Given the description of an element on the screen output the (x, y) to click on. 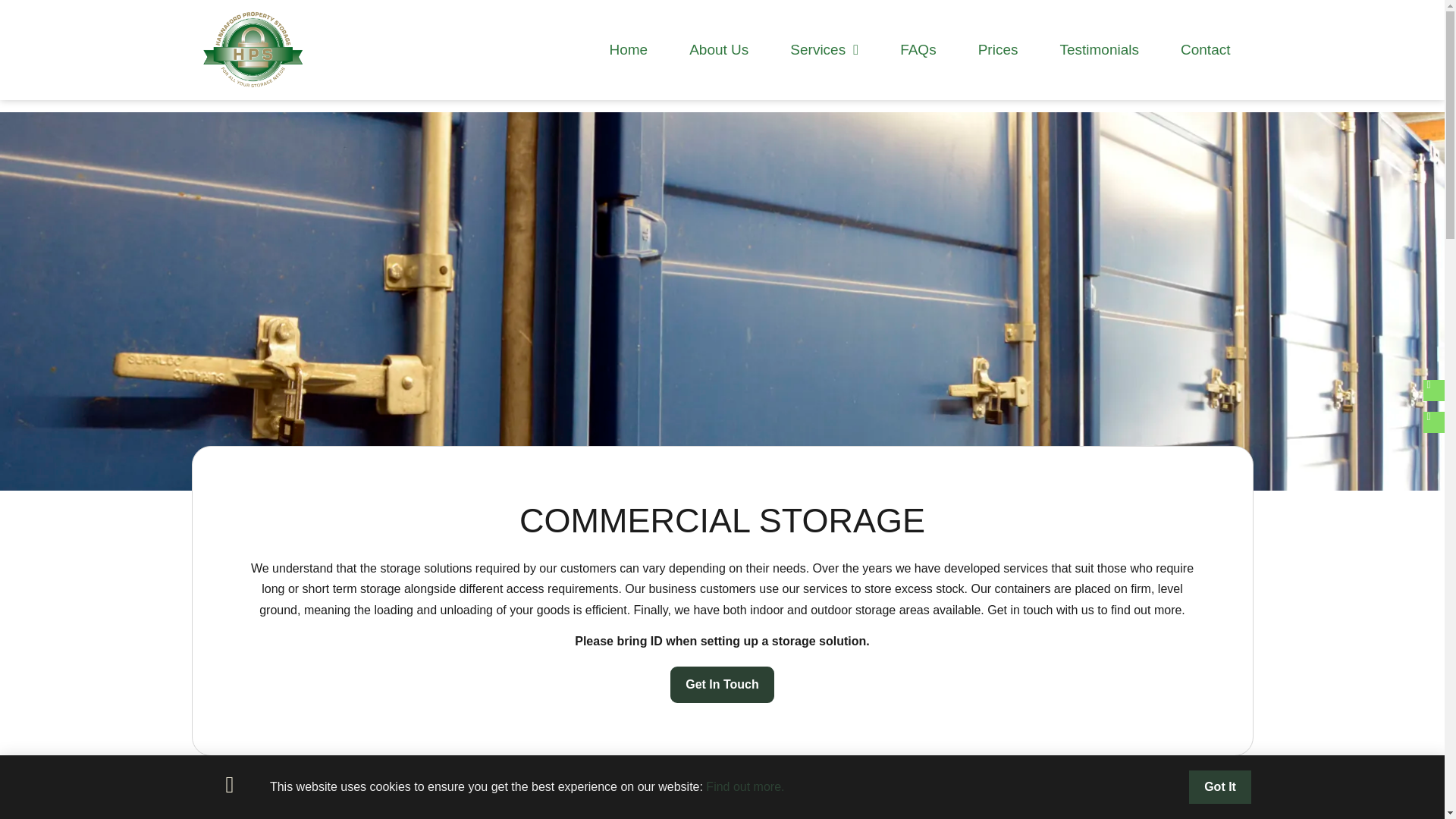
FAQs (918, 50)
Prices (997, 50)
Home (628, 50)
Services (823, 50)
Contact (1205, 50)
Testimonials (1098, 50)
About Us (718, 50)
